Given the description of an element on the screen output the (x, y) to click on. 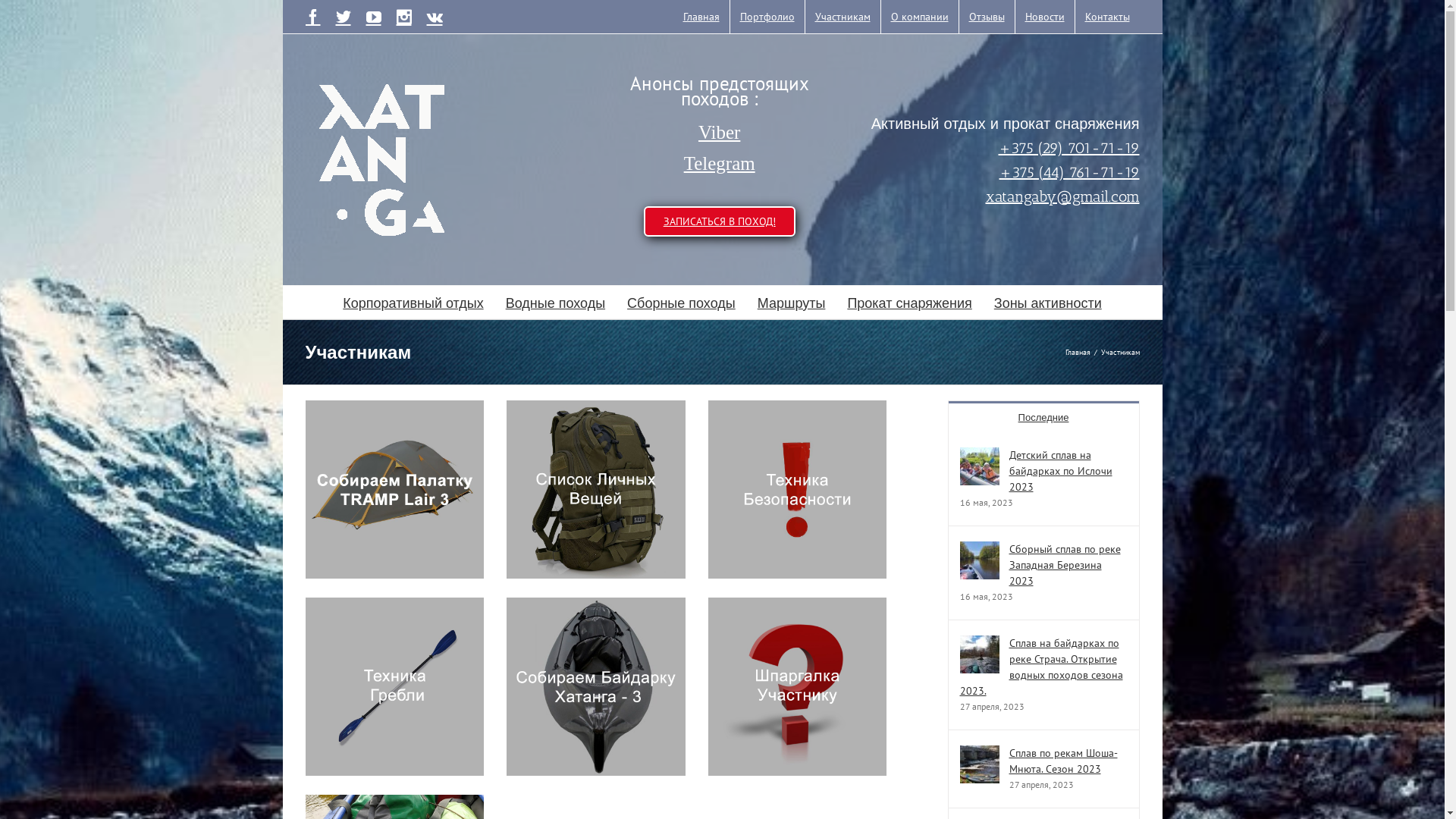
Viber Element type: text (719, 132)
xatangaby@gmail.com Element type: text (1062, 195)
+375 (29) 701-71-19 Element type: text (1068, 147)
+375 (44) 761-71-19 Element type: text (1069, 171)
Telegram Element type: text (719, 163)
